Given the description of an element on the screen output the (x, y) to click on. 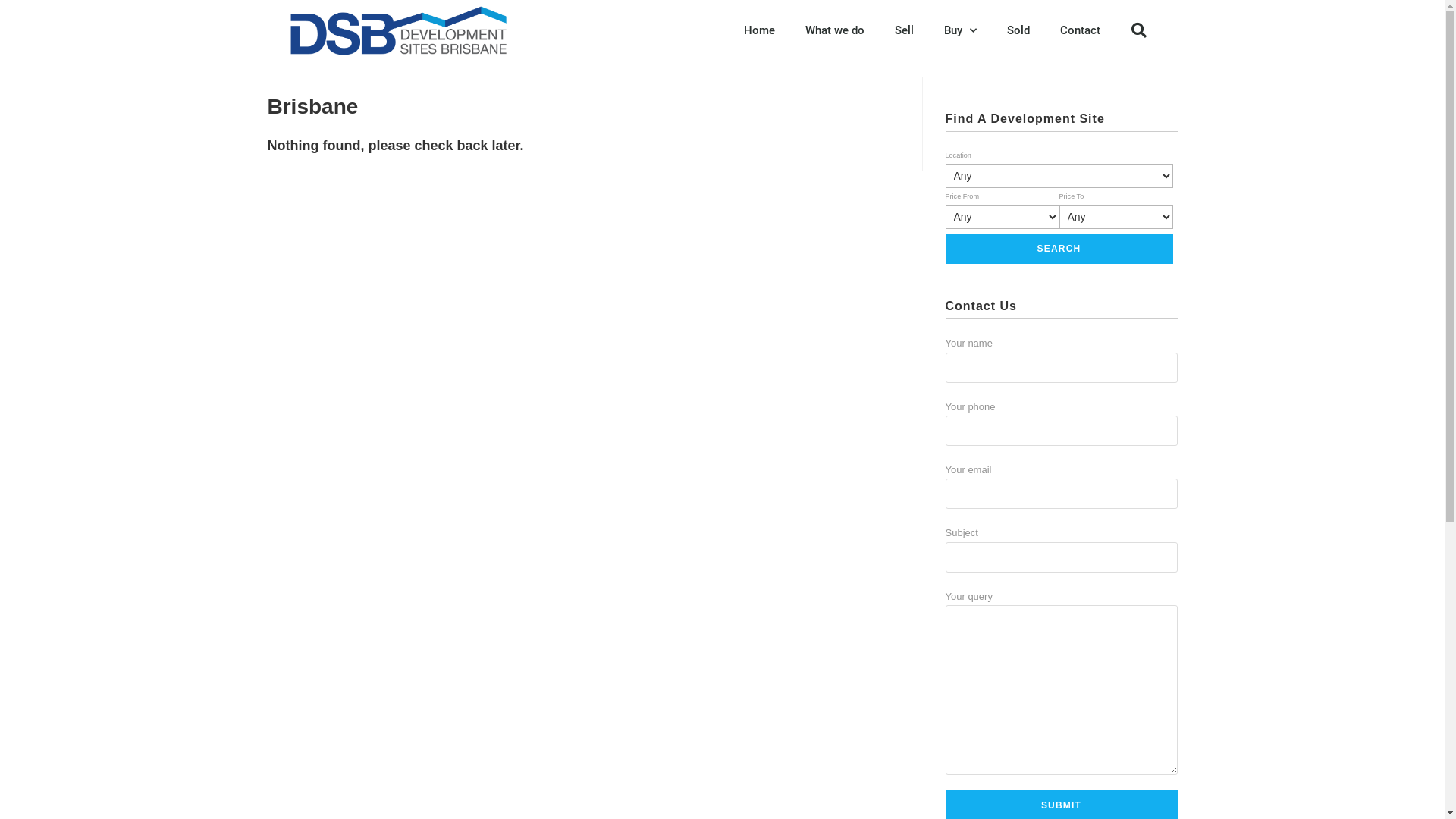
Sold Element type: text (1017, 29)
Home Element type: text (758, 29)
Buy Element type: text (959, 29)
What we do Element type: text (834, 29)
Sell Element type: text (903, 29)
Search Element type: text (1058, 248)
Contact Element type: text (1079, 29)
